Given the description of an element on the screen output the (x, y) to click on. 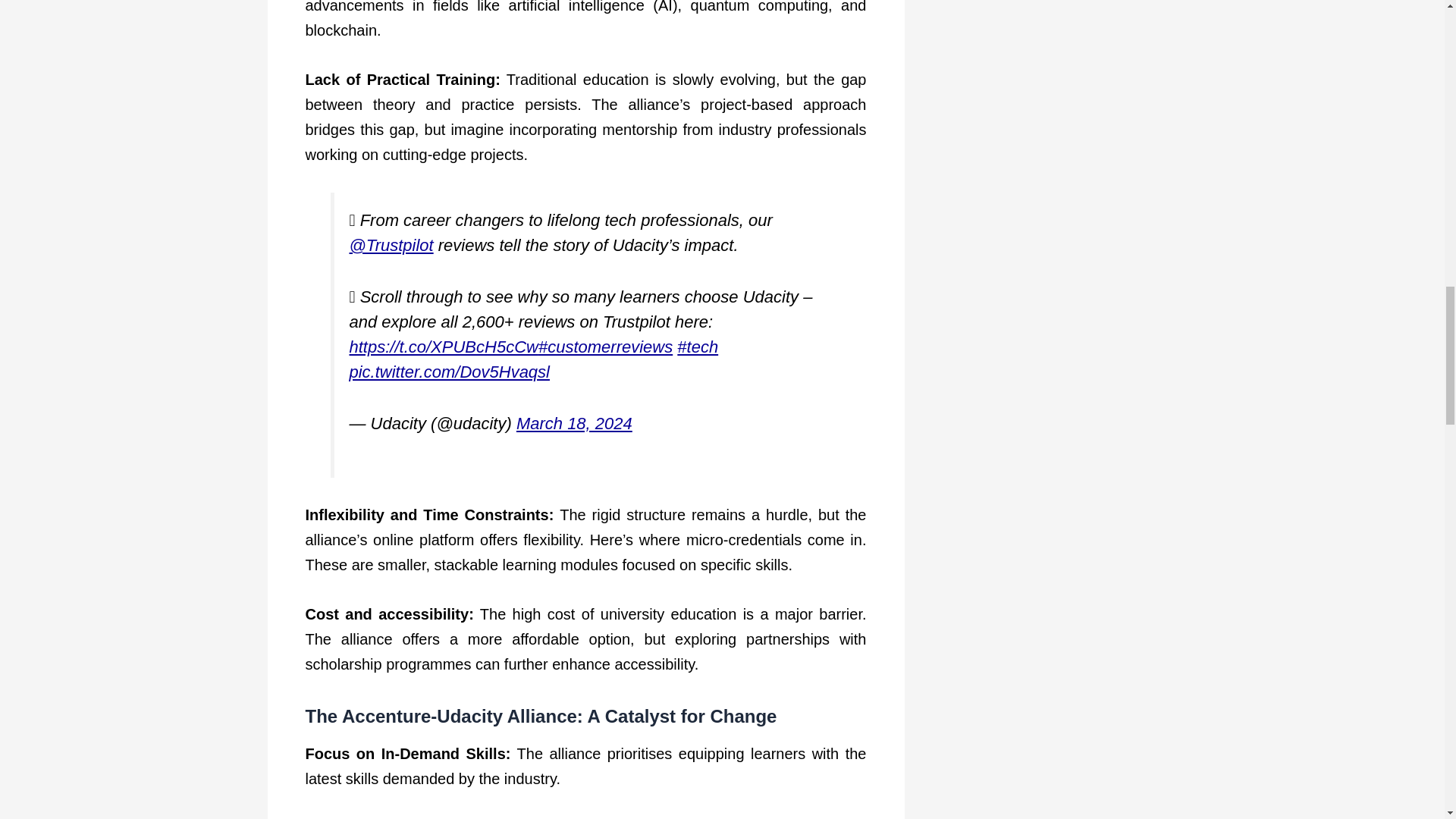
March 18, 2024 (573, 423)
